Given the description of an element on the screen output the (x, y) to click on. 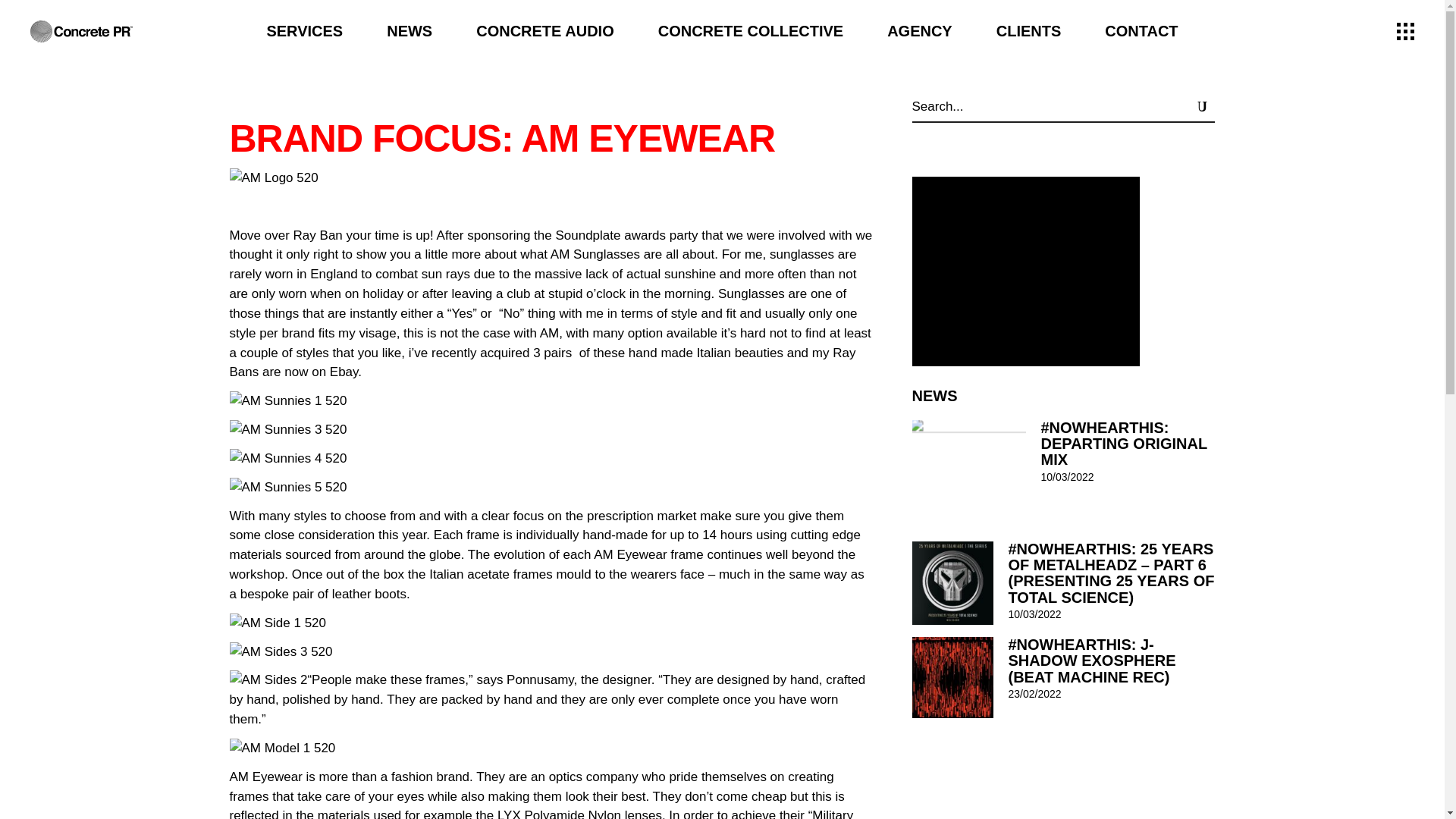
CONCRETE AUDIO (544, 31)
AM Eyewear UK (595, 254)
Page 1 (550, 793)
NEWS (409, 31)
Soundplate (587, 235)
Soundplate (587, 235)
CONCRETE COLLECTIVE (750, 31)
AM Sunglasses (595, 254)
AGENCY (919, 31)
SERVICES (304, 31)
CLIENTS (1028, 31)
Search for: (1042, 106)
CONTACT (1141, 31)
